Given the description of an element on the screen output the (x, y) to click on. 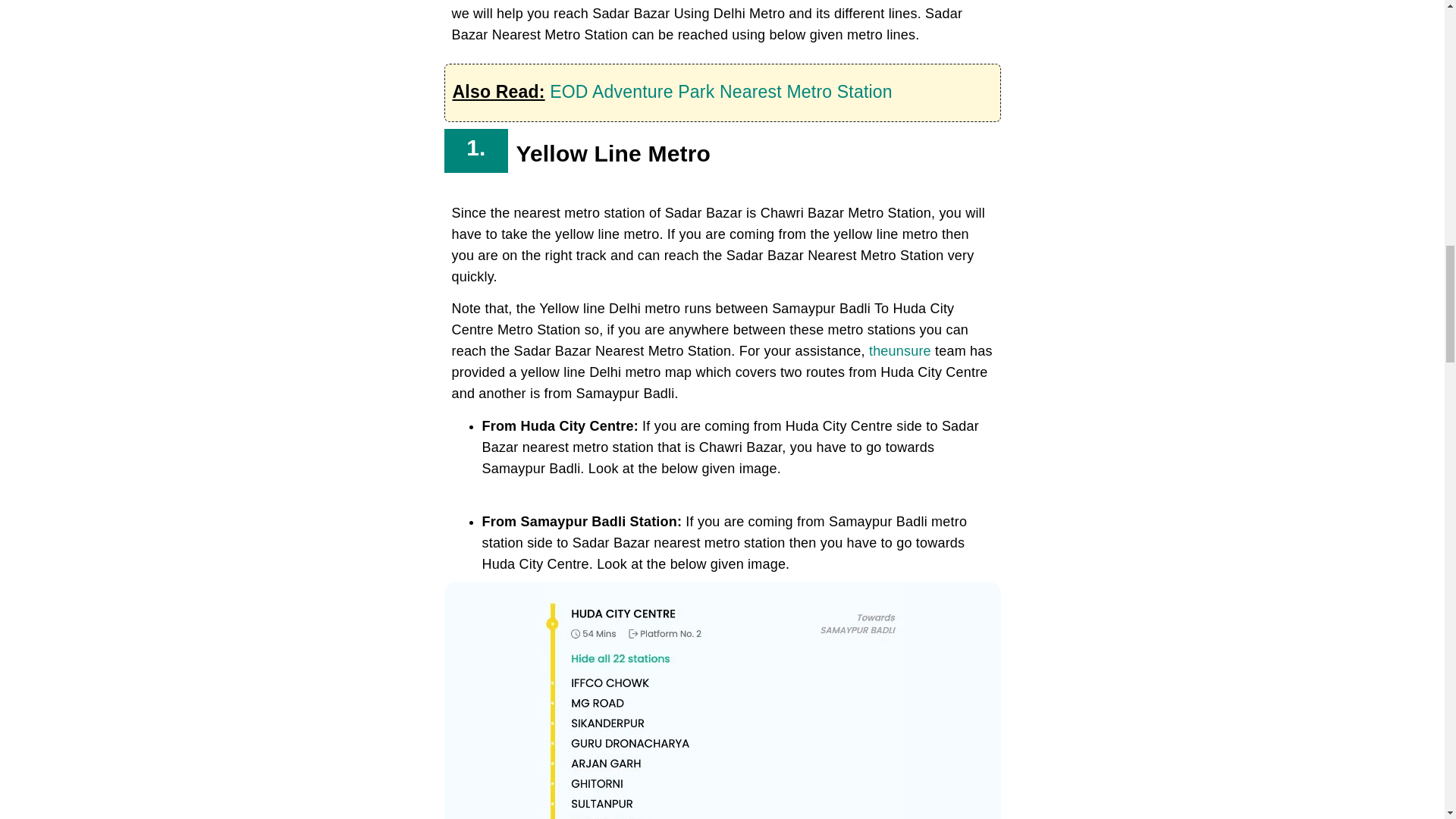
theunsure (900, 350)
EOD Adventure Park Nearest Metro Station (721, 91)
